Given the description of an element on the screen output the (x, y) to click on. 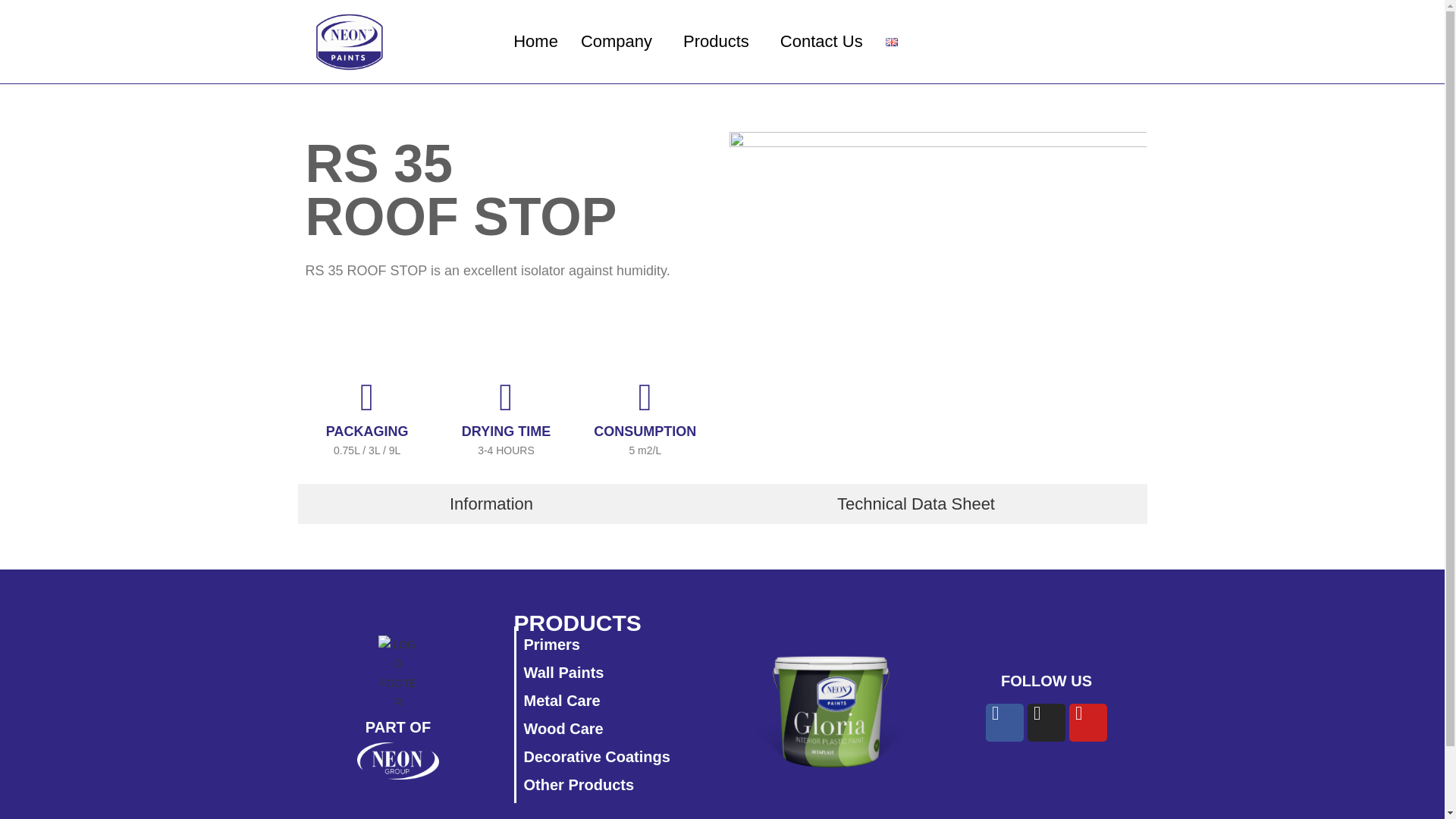
Home (535, 41)
Products (719, 41)
Contact Us (821, 41)
Company (620, 41)
